Given the description of an element on the screen output the (x, y) to click on. 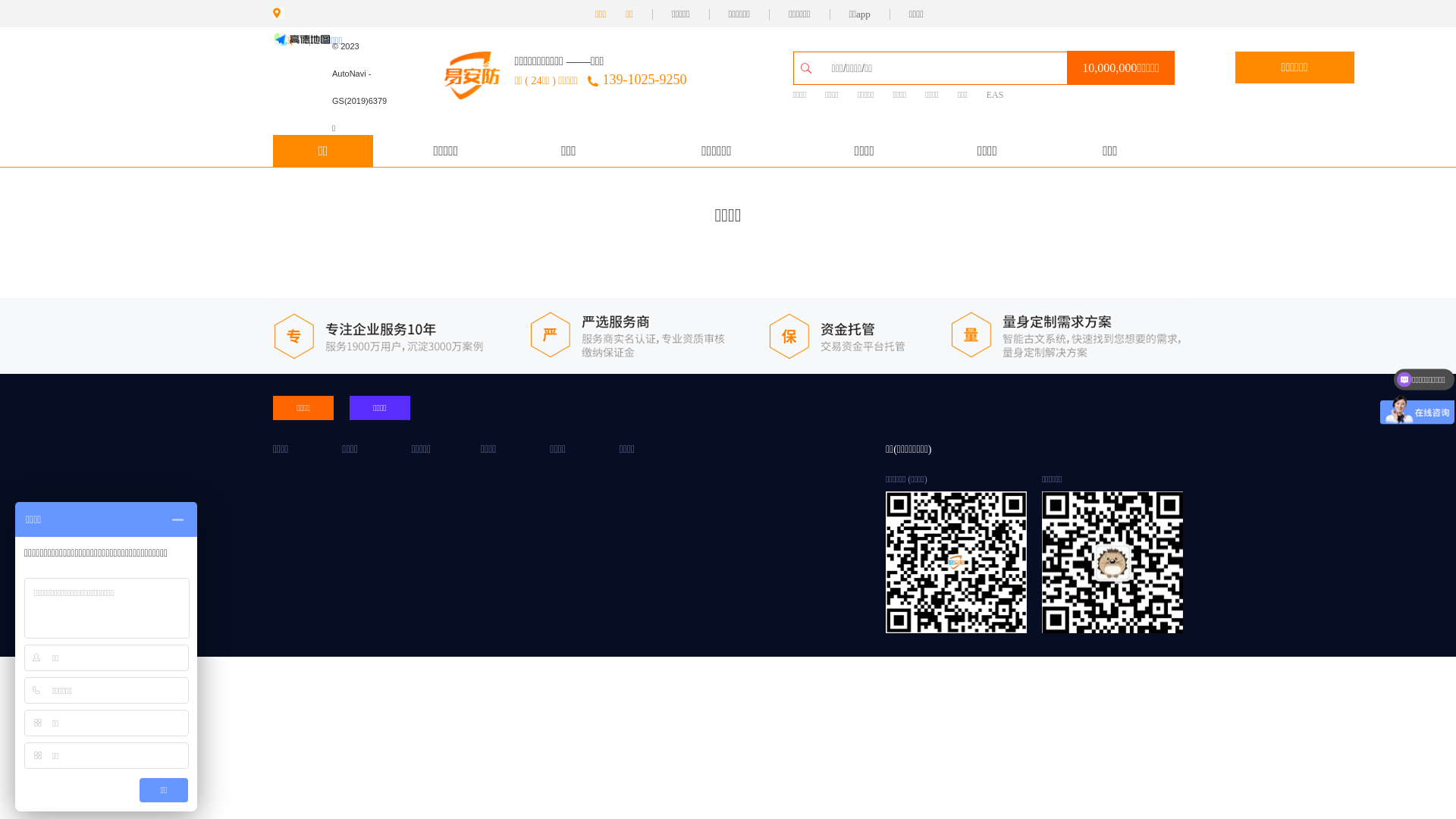
EAS Element type: text (995, 94)
